Given the description of an element on the screen output the (x, y) to click on. 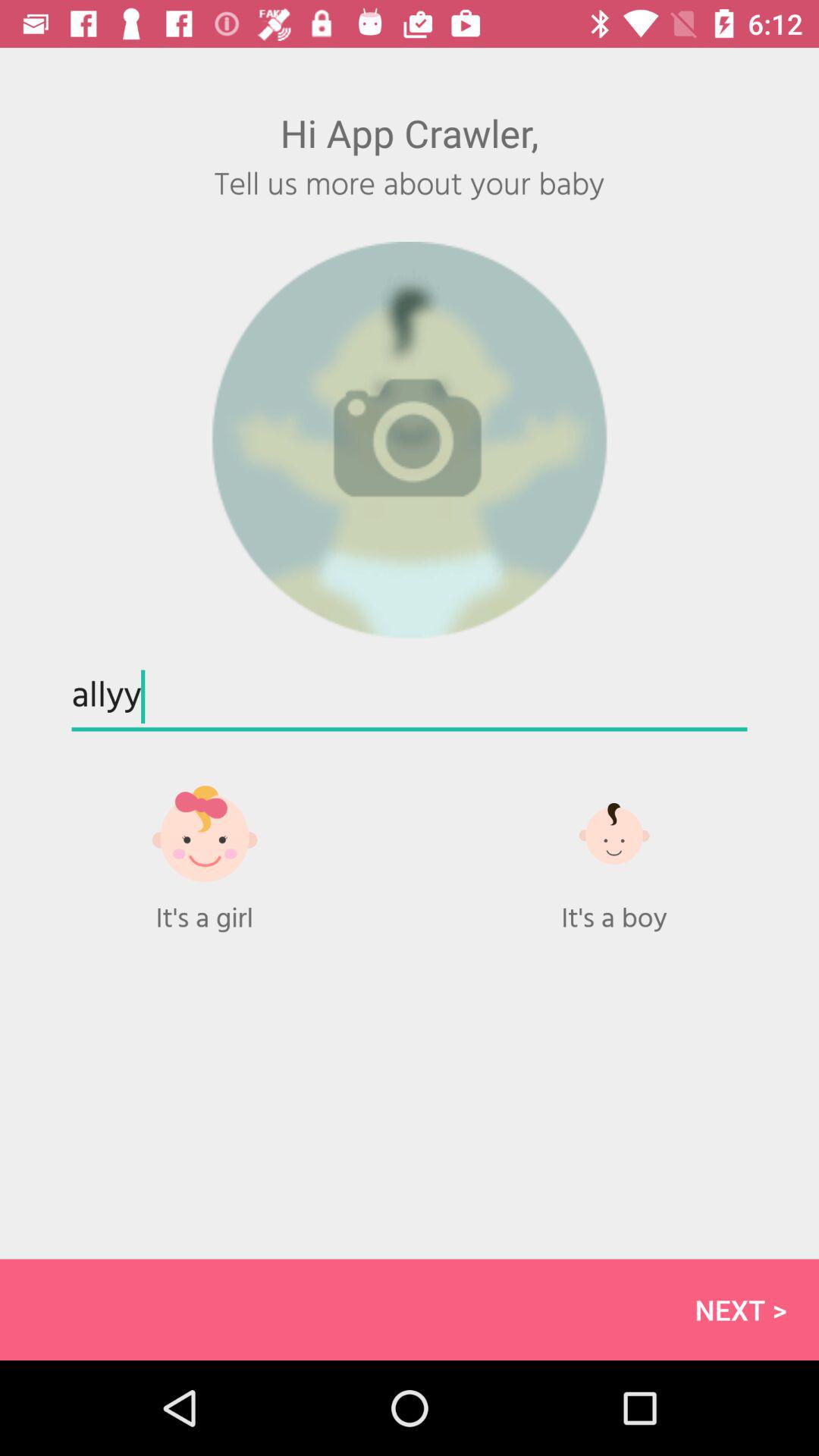
tap icon above the allyy (409, 440)
